Given the description of an element on the screen output the (x, y) to click on. 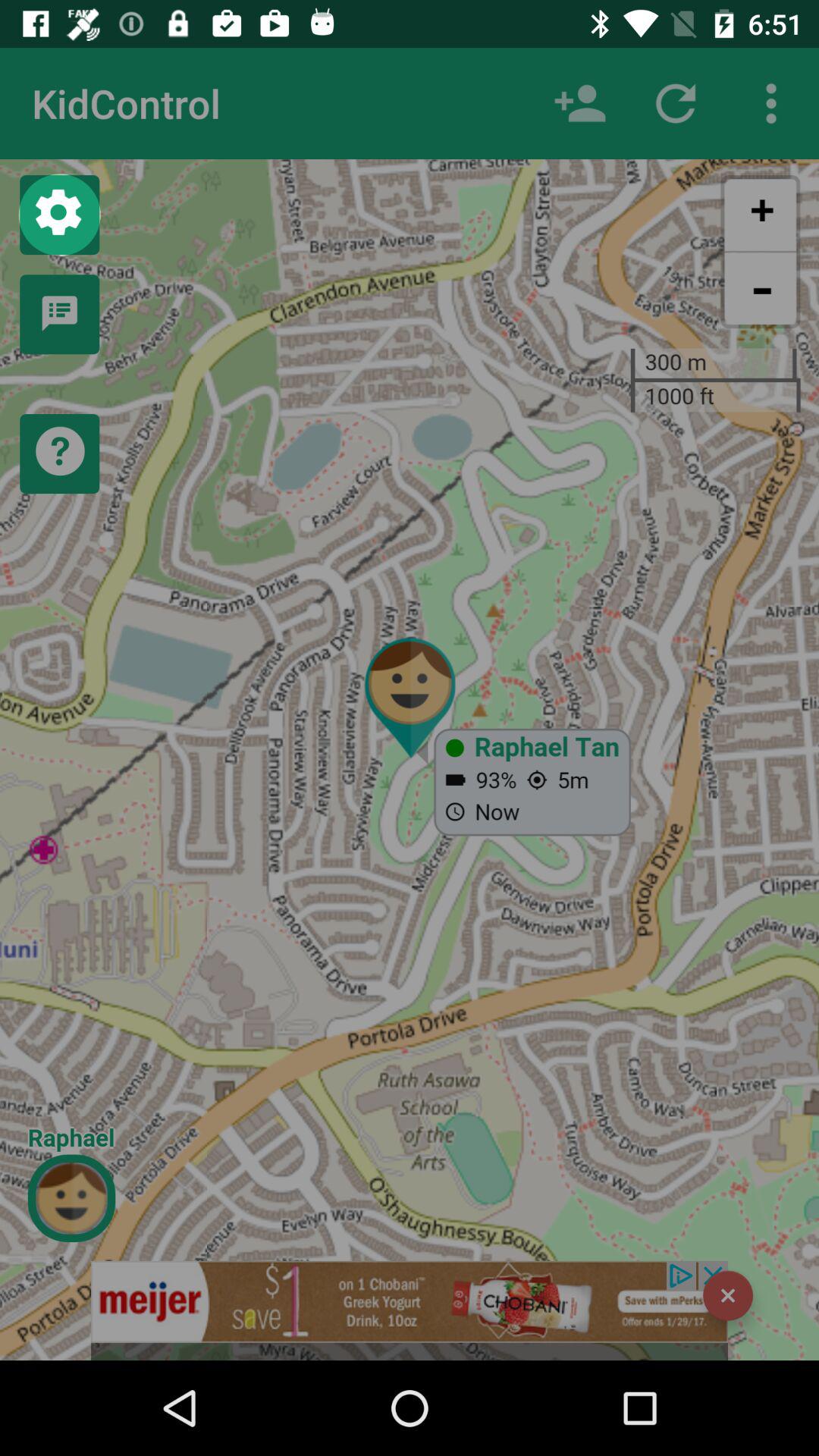
click the item at the bottom right corner (727, 1295)
